Given the description of an element on the screen output the (x, y) to click on. 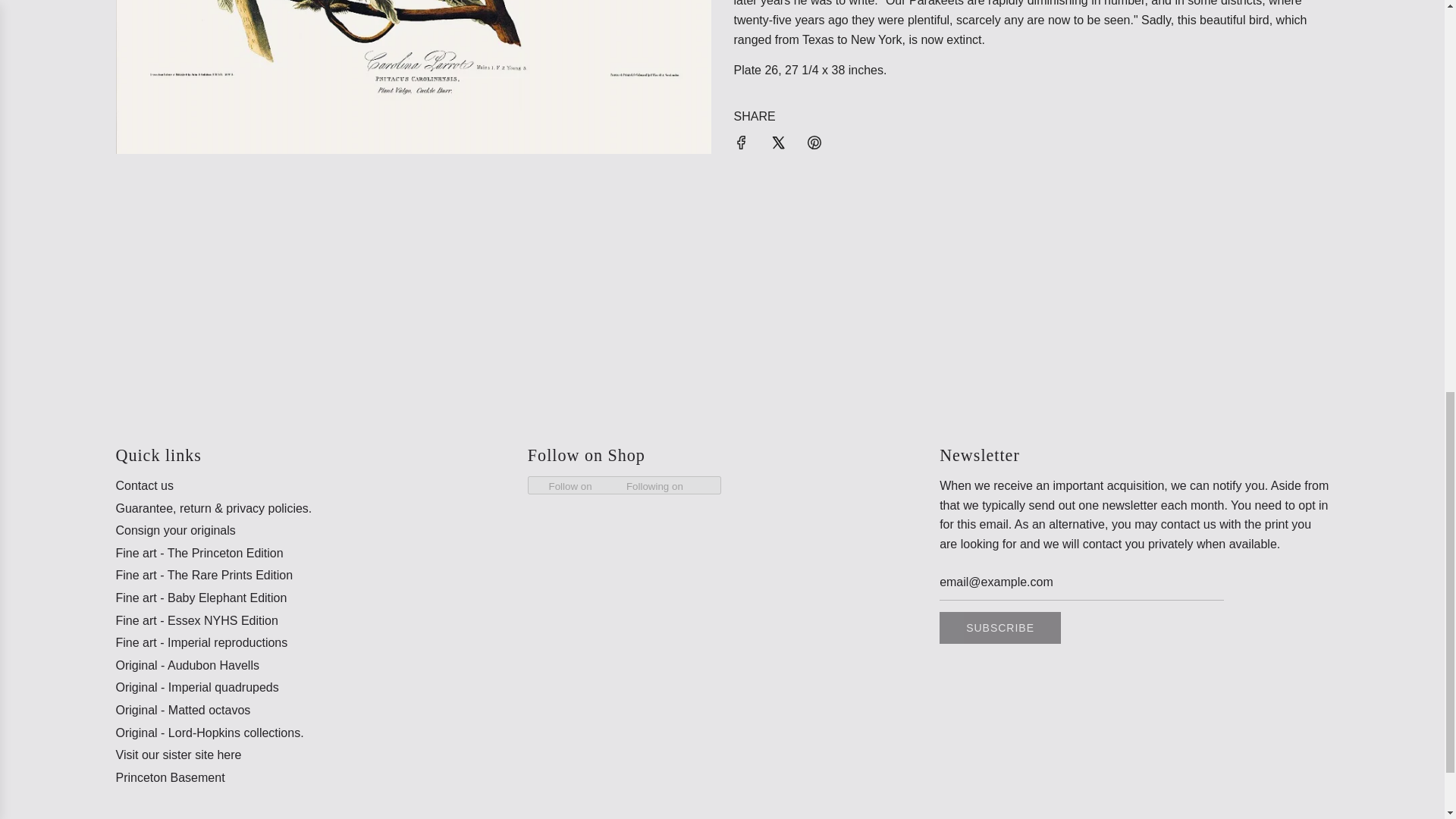
Contact us (144, 485)
Consign your originals (174, 530)
